Given the description of an element on the screen output the (x, y) to click on. 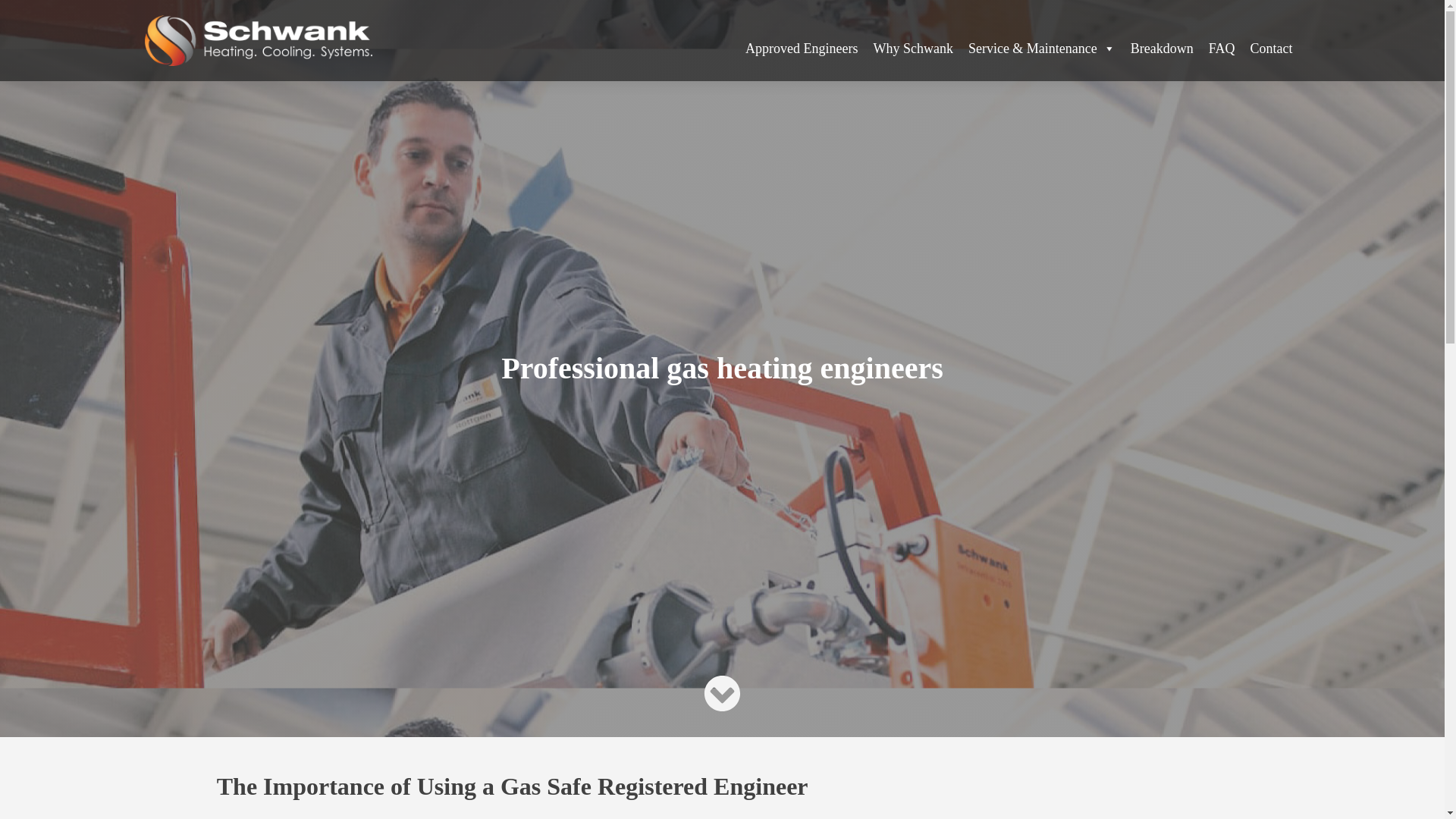
Why Schwank (911, 48)
Approved Engineers (801, 48)
Breakdown (1161, 48)
Contact (1270, 48)
FAQ (1222, 48)
